Given the description of an element on the screen output the (x, y) to click on. 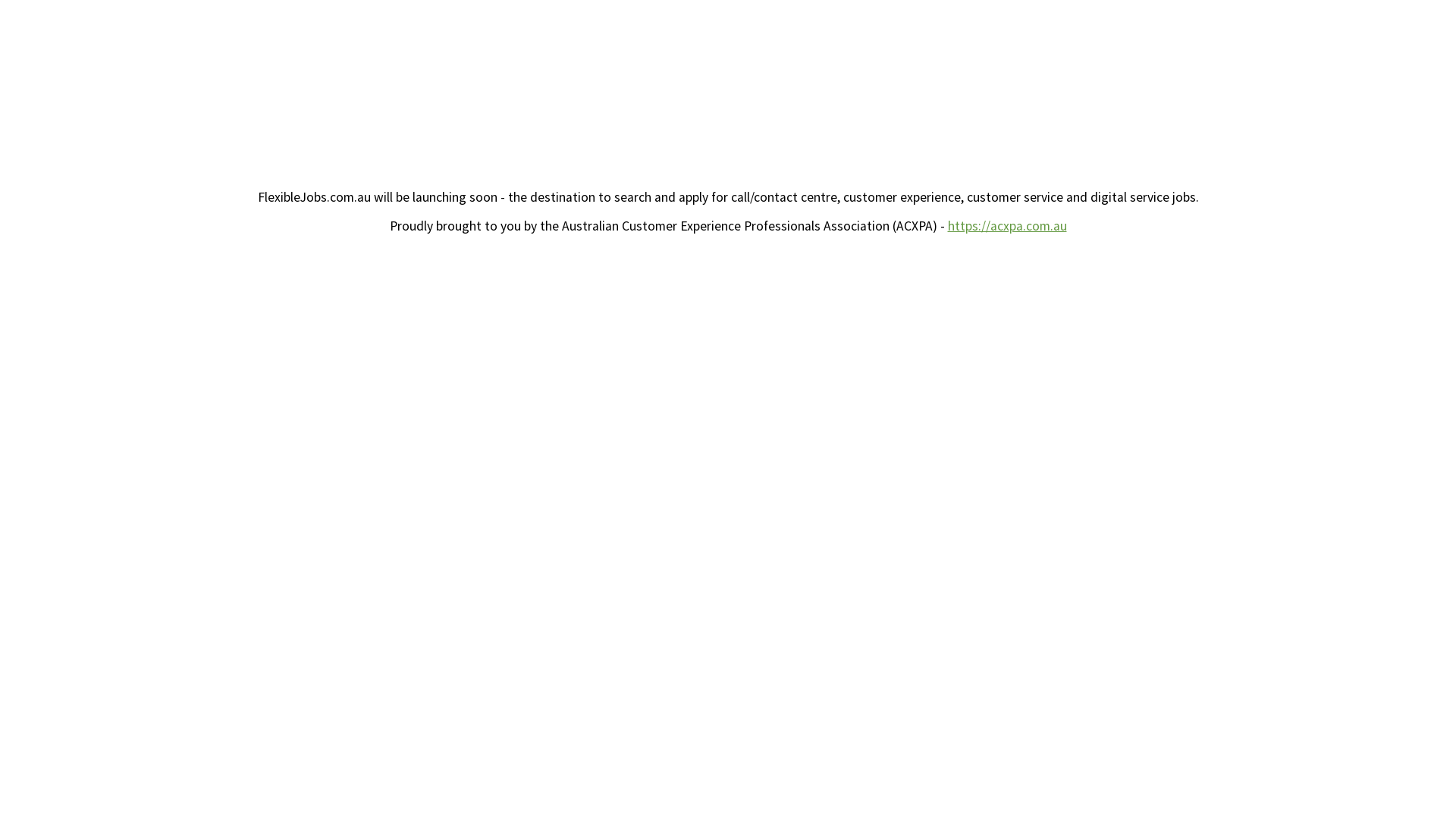
https://acxpa.com.au Element type: text (1006, 224)
